Given the description of an element on the screen output the (x, y) to click on. 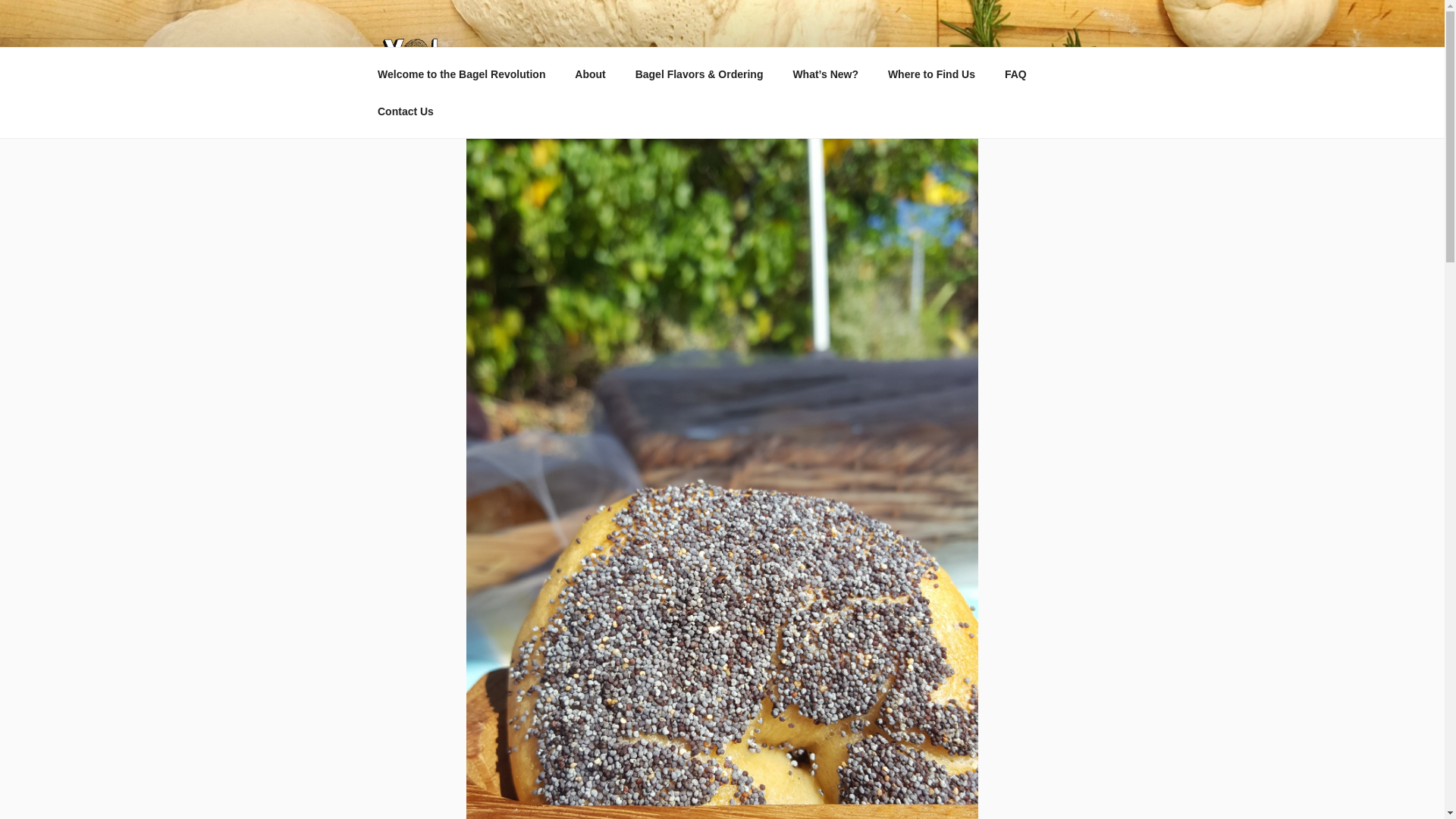
FAQ (1015, 74)
Welcome to the Bagel Revolution (460, 74)
About (590, 74)
Contact Us (405, 110)
YO BAGELS! (563, 60)
Where to Find Us (931, 74)
